Given the description of an element on the screen output the (x, y) to click on. 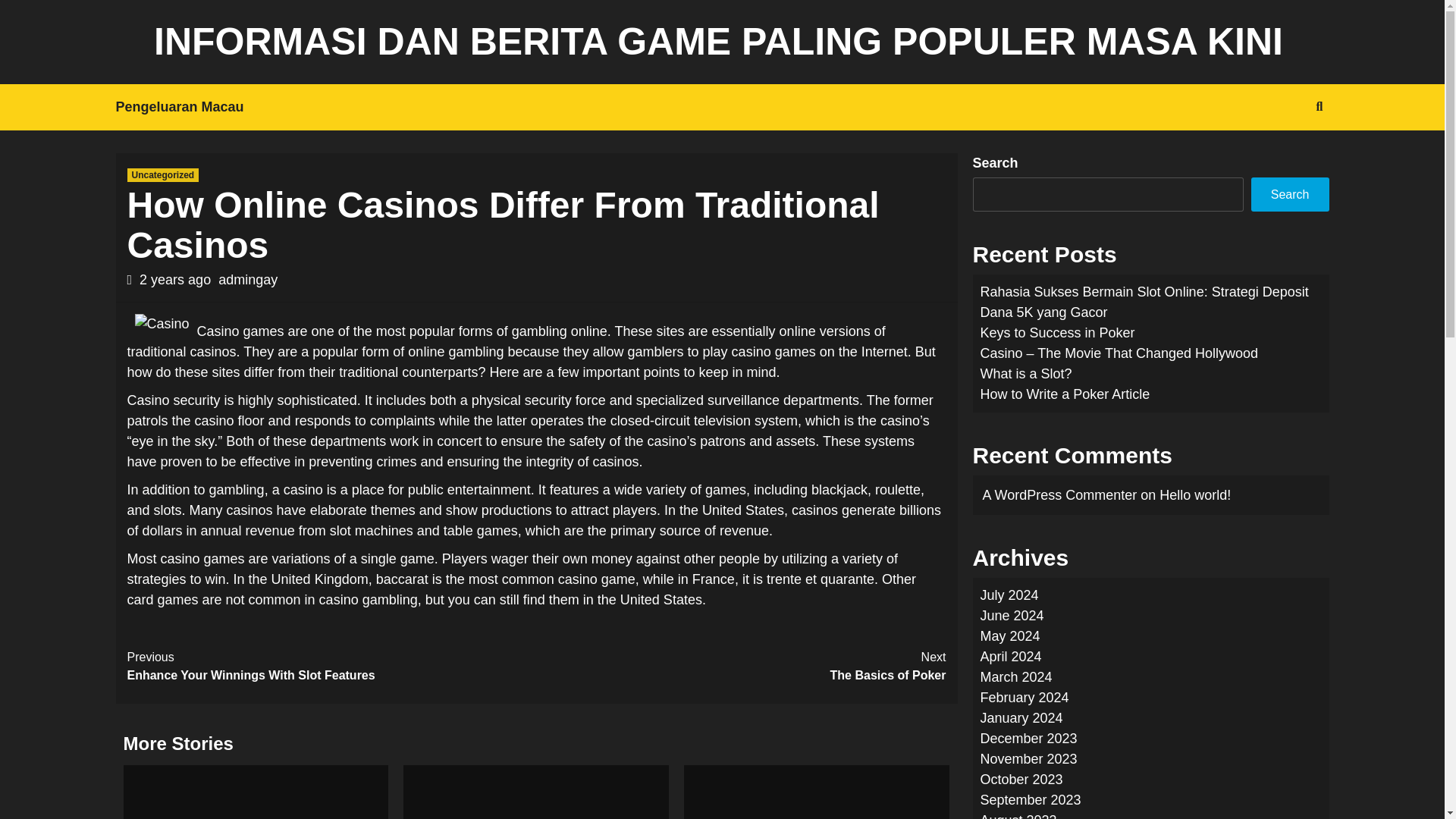
Search (1289, 194)
July 2024 (1008, 595)
May 2024 (1009, 635)
April 2024 (1010, 656)
December 2023 (1028, 738)
INFORMASI DAN BERITA GAME PALING POPULER MASA KINI (718, 41)
How to Write a Poker Article (1064, 394)
November 2023 (1028, 758)
Uncategorized (332, 666)
March 2024 (163, 174)
Search (1015, 676)
Keys to Success in Poker (741, 666)
